Given the description of an element on the screen output the (x, y) to click on. 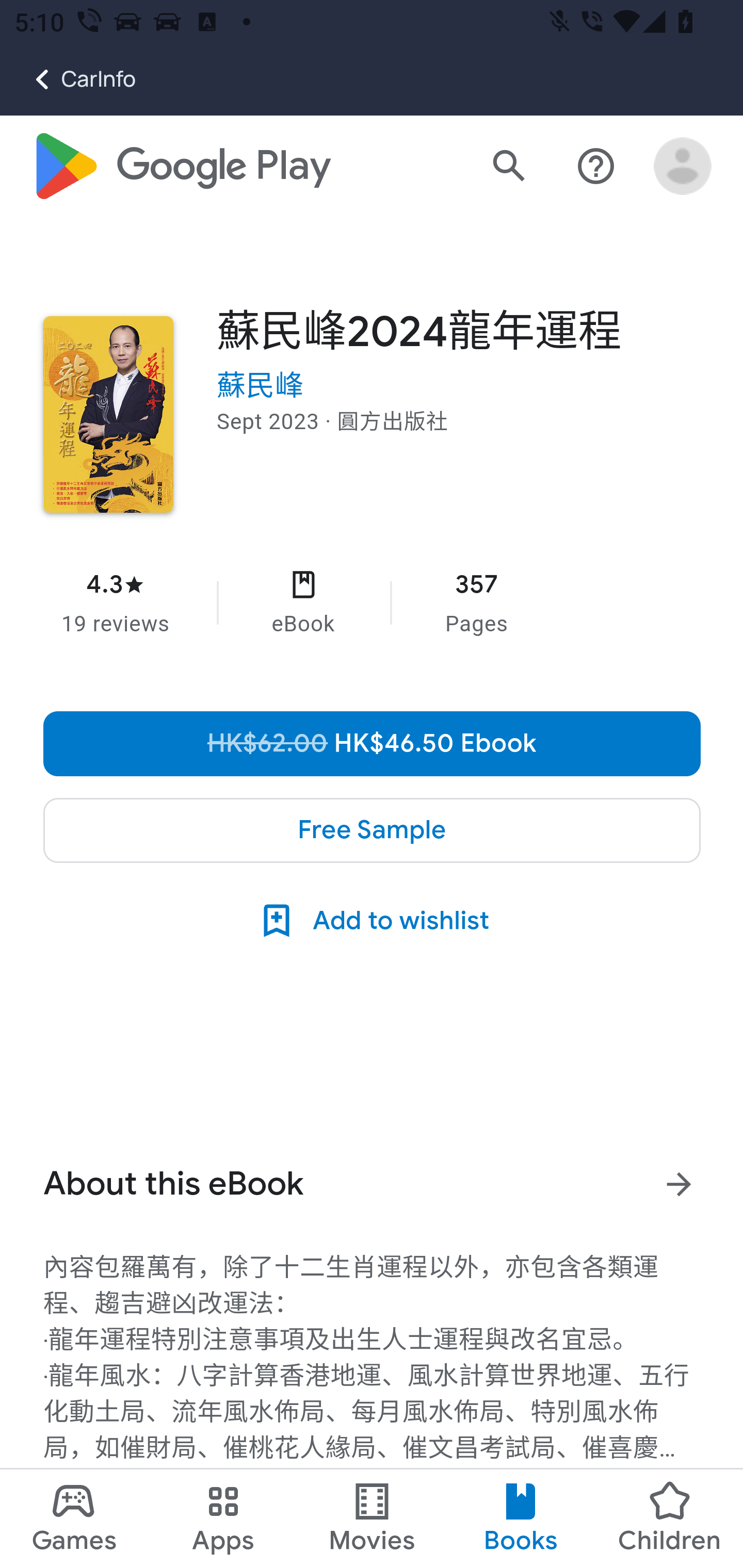
CarInfo (67, 79)
Google Play logo (180, 166)
Search (508, 166)
Help centre (596, 166)
Open account menu (682, 166)
蘇民峰 (260, 386)
Was HK$62.00, now reduced to HK$46.50 Ebook (372, 742)
Add to wishlist (371, 920)
See more information on About this eBook (679, 1182)
Games (74, 1518)
Apps (222, 1518)
Movies (372, 1518)
Books (520, 1518)
Children (668, 1518)
